Given the description of an element on the screen output the (x, y) to click on. 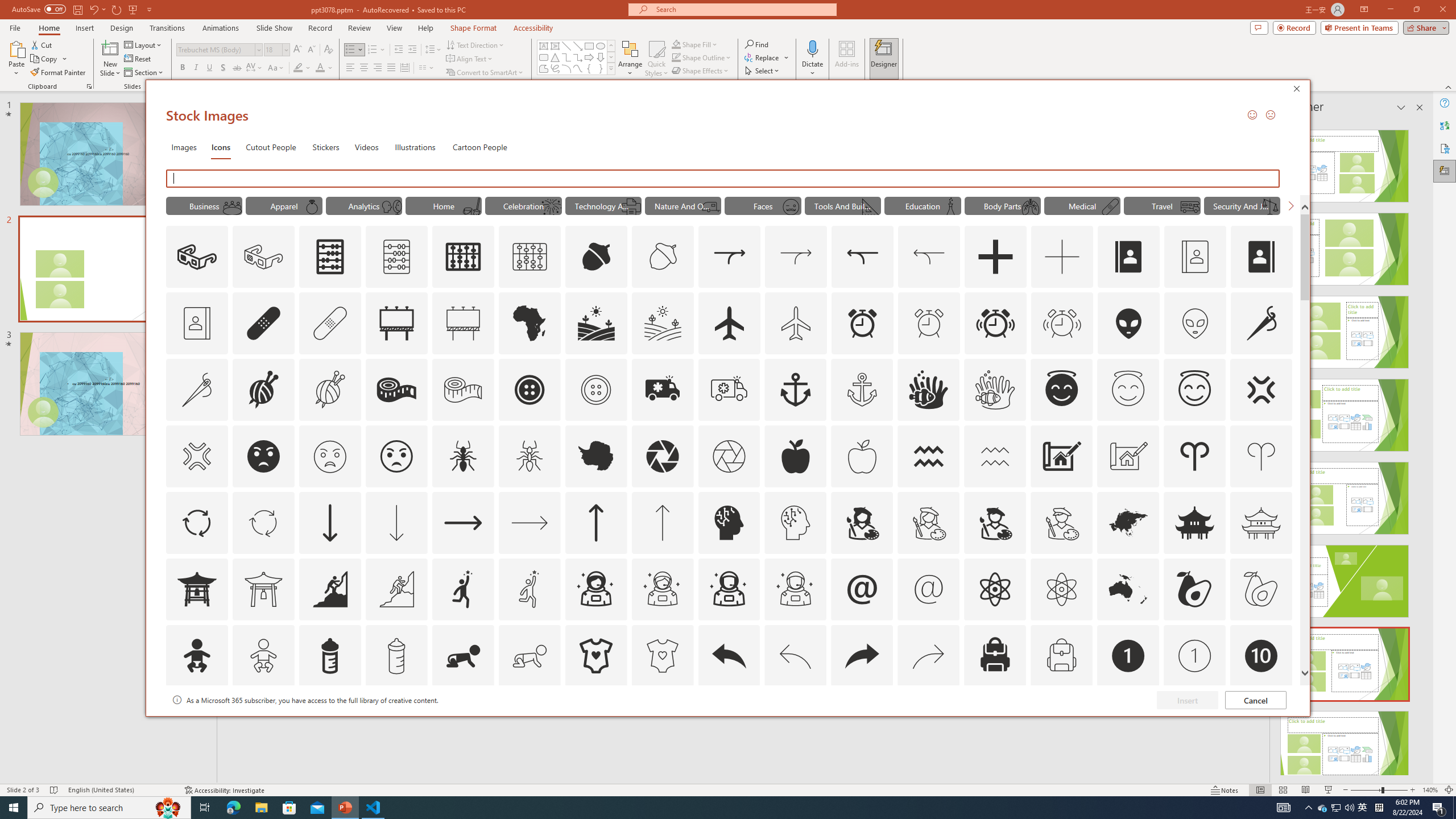
Bold (182, 67)
Change Case (276, 67)
